Given the description of an element on the screen output the (x, y) to click on. 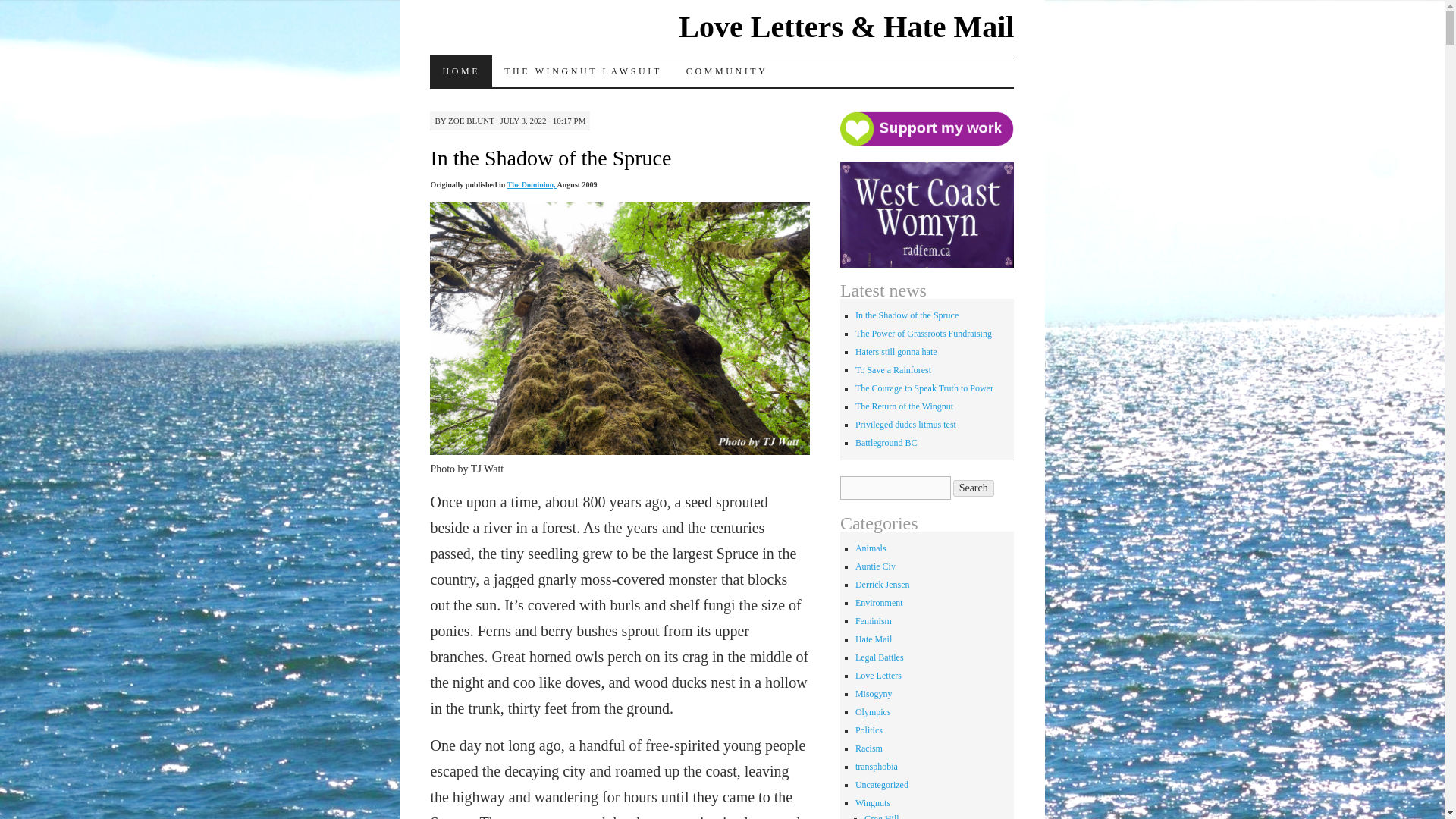
COMMUNITY (727, 70)
ZOE BLUNT (471, 120)
The Dominion, (531, 184)
Skip to content (440, 101)
In the Shadow of the Spruce (550, 157)
The Dominion,  (531, 184)
SKIP TO CONTENT (440, 101)
THE WINGNUT LAWSUIT (583, 70)
HOME (460, 70)
Search (973, 487)
View all posts by Zoe Blunt (471, 120)
